Given the description of an element on the screen output the (x, y) to click on. 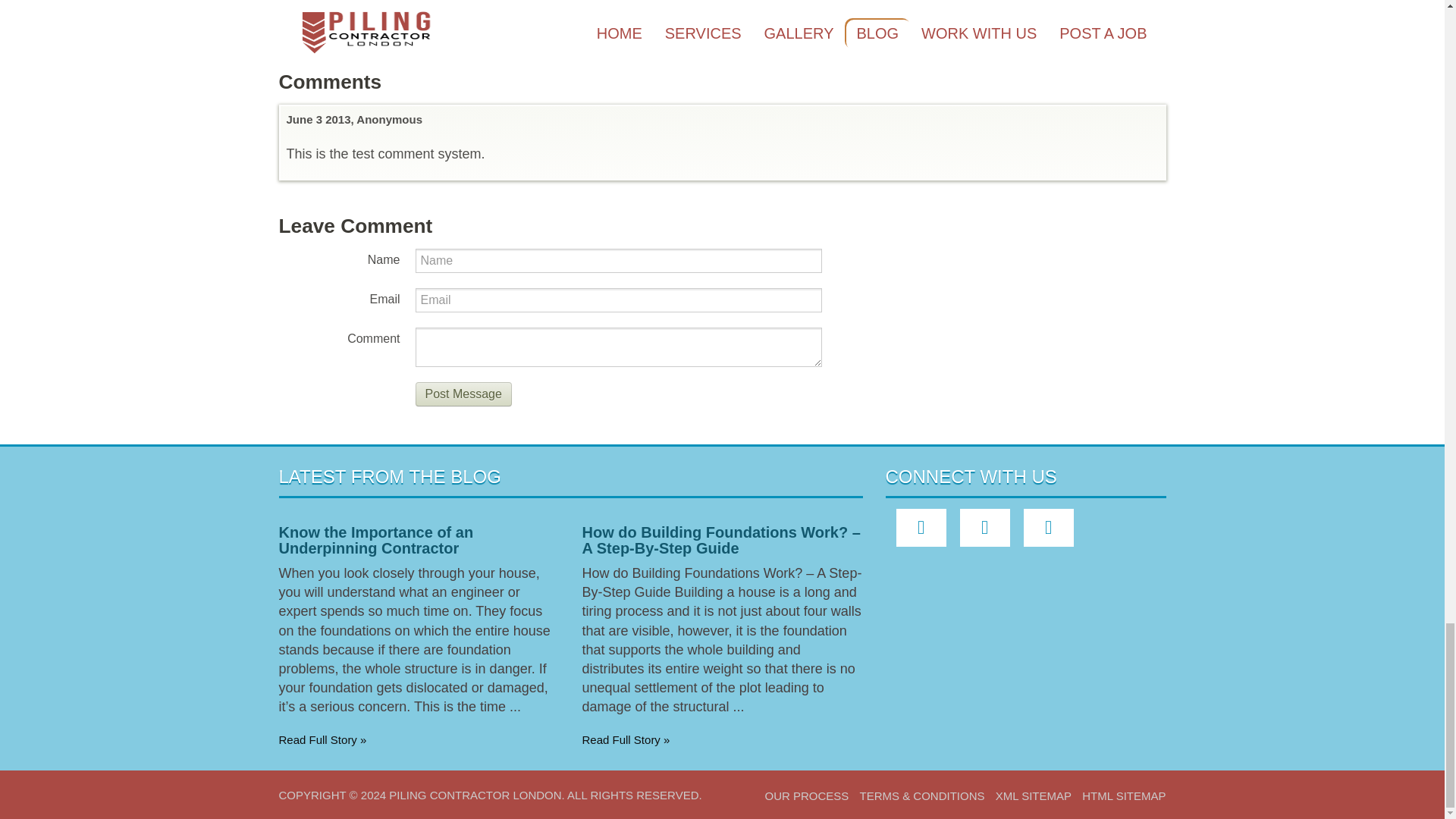
OUR PROCESS (806, 795)
Know the Importance of an Underpinning Contractor (376, 540)
HTML SITEMAP (1123, 795)
Post Message (463, 394)
Post Message (463, 394)
XML SITEMAP (1033, 795)
